Given the description of an element on the screen output the (x, y) to click on. 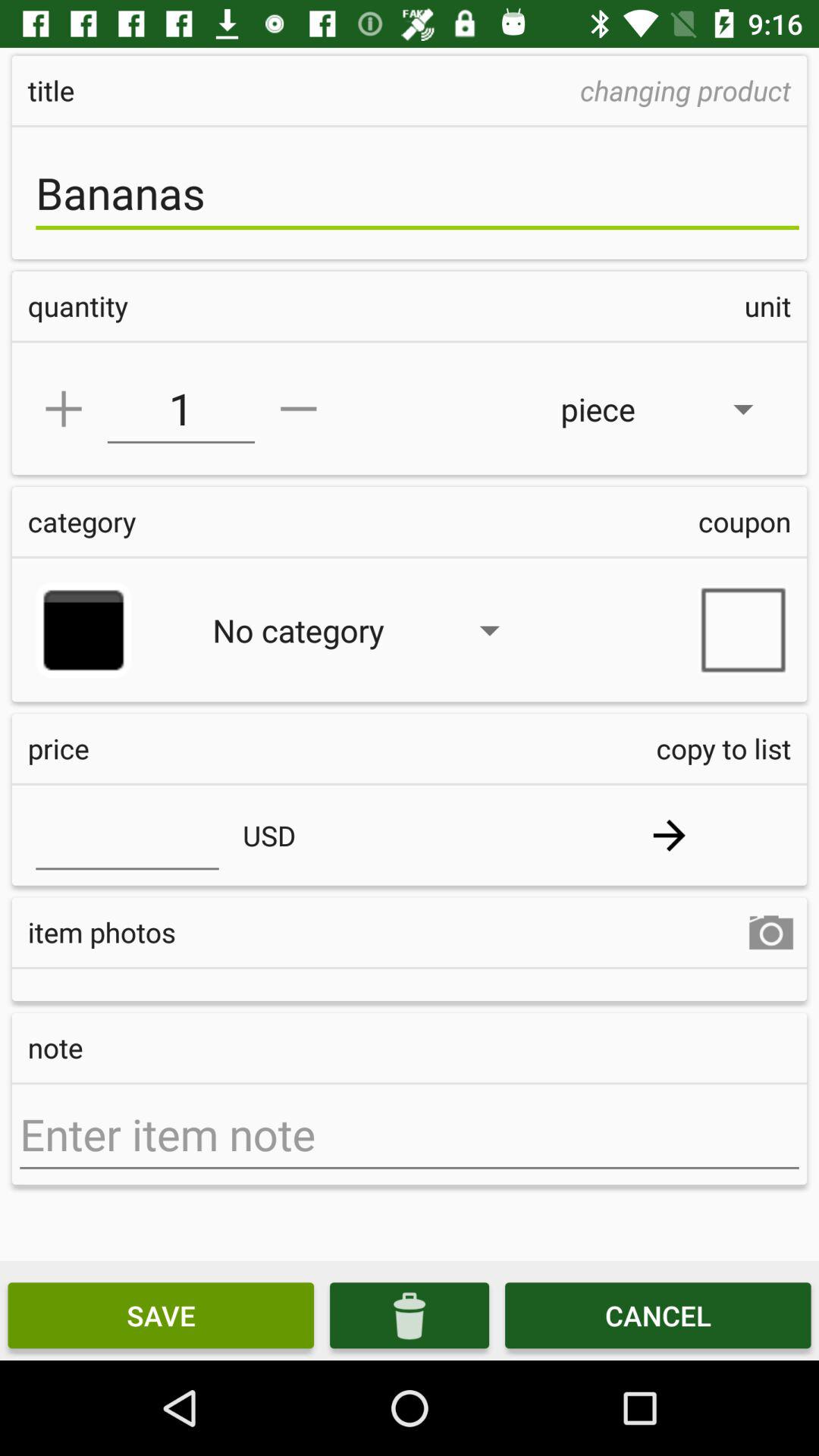
price field (126, 835)
